Given the description of an element on the screen output the (x, y) to click on. 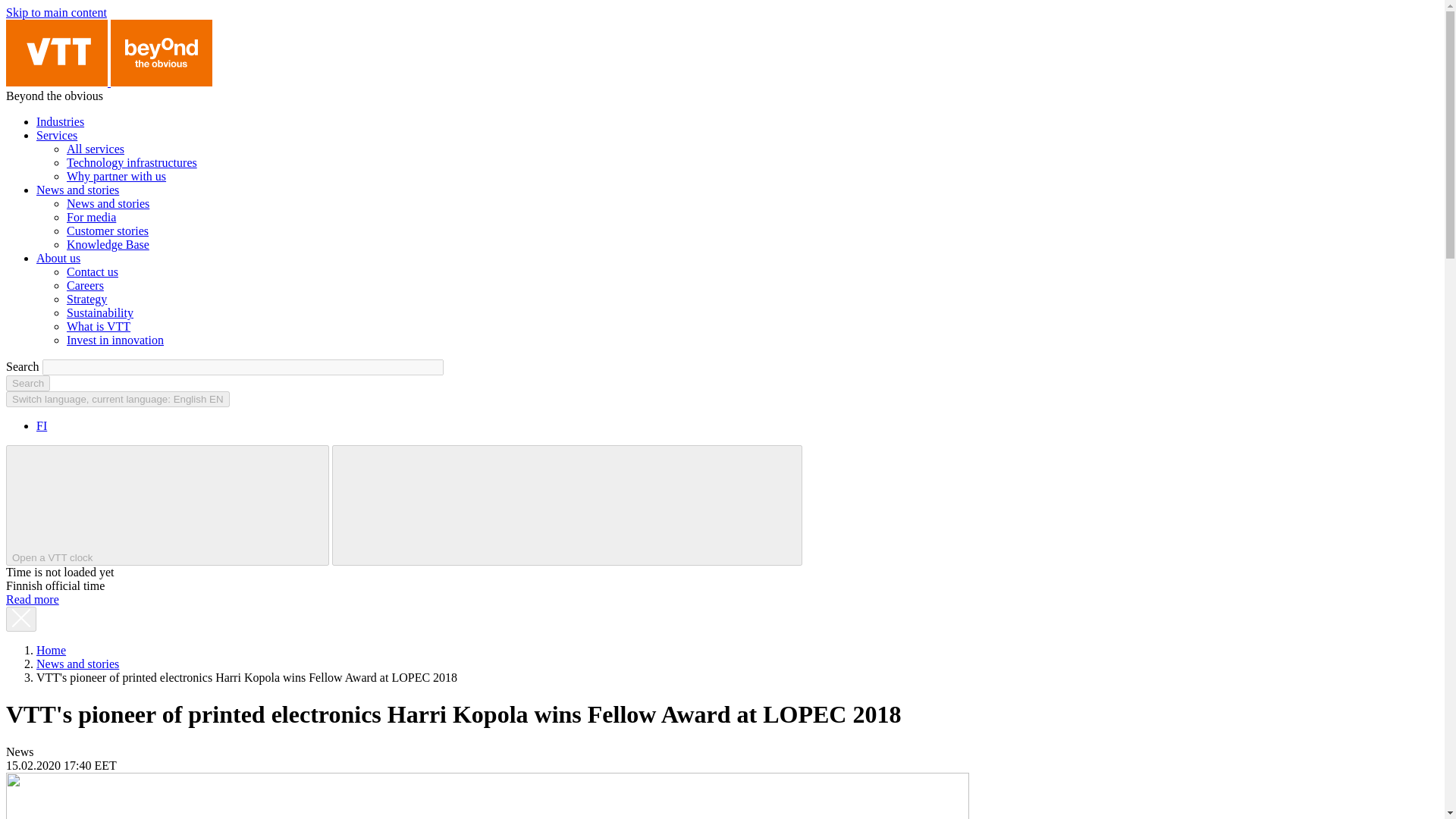
Search (27, 383)
News and stories (77, 189)
Open mobile menu Close mobile menu (566, 505)
Knowledge Base (107, 244)
Read more (32, 599)
News and stories (107, 203)
Industries (60, 121)
Finnish official time (209, 504)
Contact us (91, 271)
Switch language, current language: English EN (117, 399)
